Given the description of an element on the screen output the (x, y) to click on. 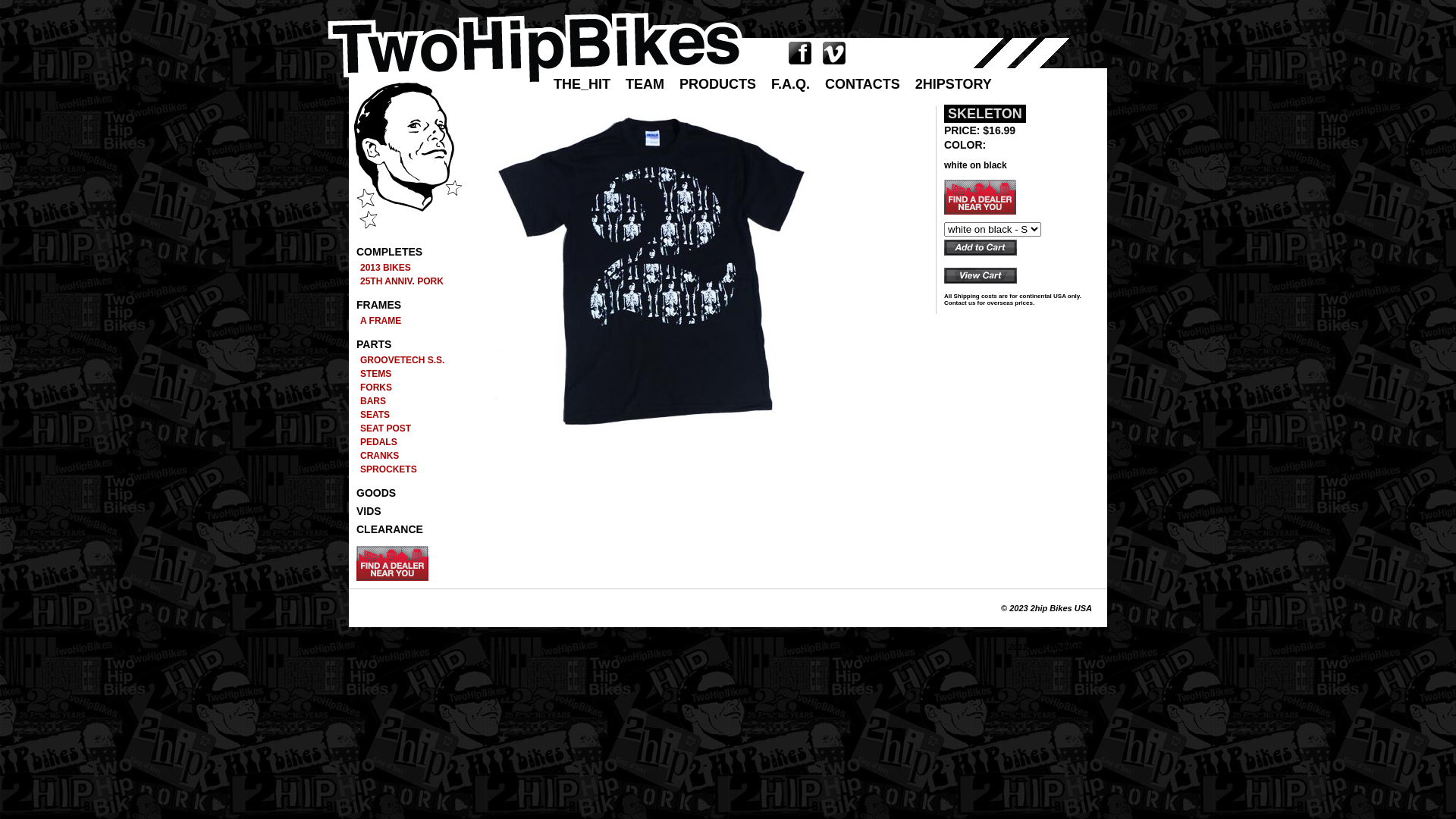
GROOVETECH S.S. Element type: text (405, 360)
SEATS Element type: text (405, 414)
STEMS Element type: text (405, 373)
PARTS Element type: text (373, 344)
GOODS Element type: text (375, 492)
COMPLETES Element type: text (389, 251)
VIDS Element type: text (368, 511)
BARS Element type: text (405, 400)
CRANKS Element type: text (405, 455)
PEDALS Element type: text (405, 441)
SPROCKETS Element type: text (405, 469)
FORKS Element type: text (405, 387)
A FRAME Element type: text (405, 320)
25TH ANNIV. PORK Element type: text (405, 281)
CLEARANCE Element type: text (389, 529)
SEAT POST Element type: text (405, 428)
FRAMES Element type: text (378, 304)
big Element type: hover (659, 274)
2013 BIKES Element type: text (405, 267)
